Given the description of an element on the screen output the (x, y) to click on. 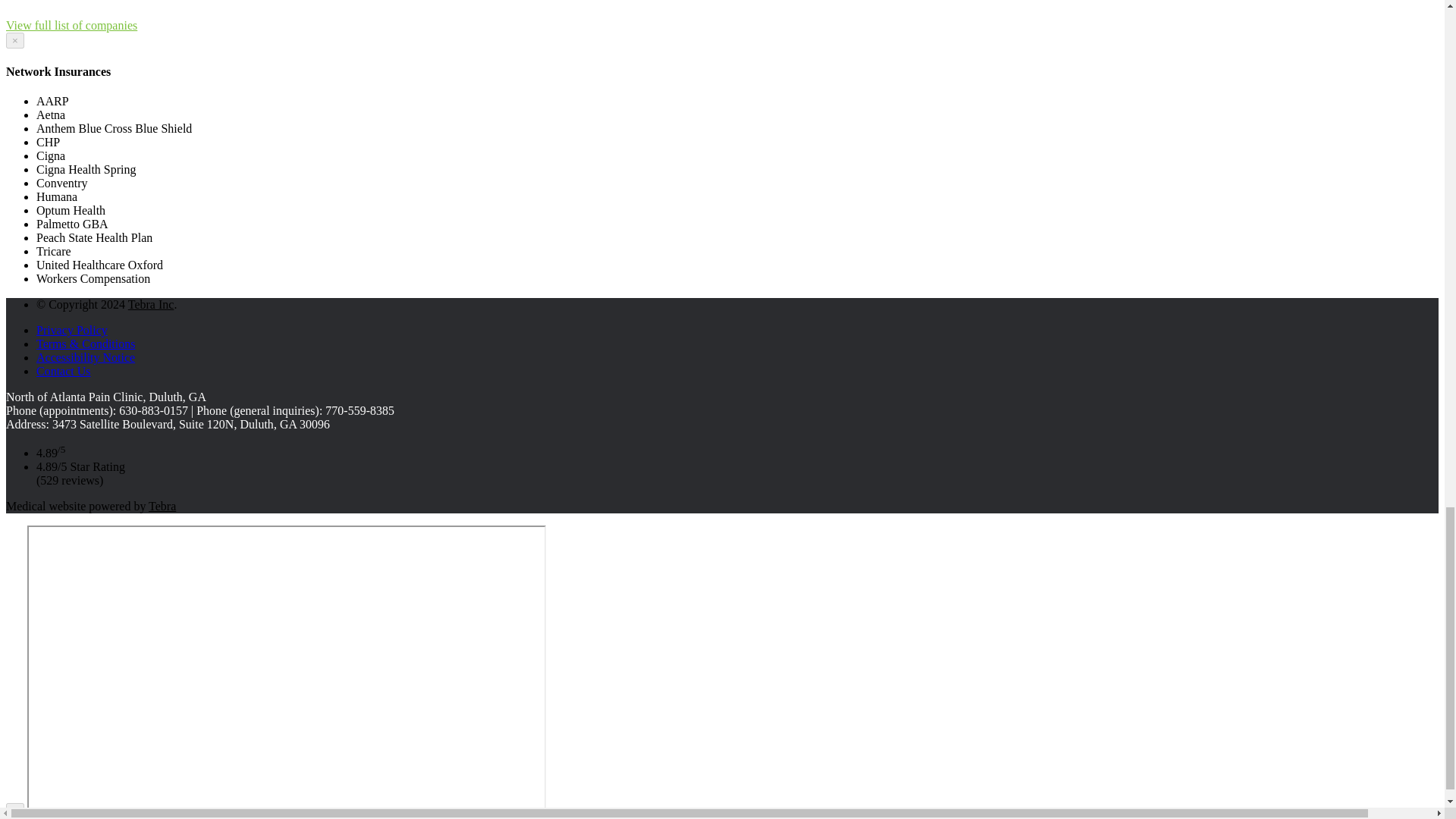
Contact Us (63, 370)
Accessibility Notice (85, 357)
View full list of companies (70, 24)
Privacy Policy (71, 329)
Workers Compensation (76, 2)
Tebra Inc (151, 304)
Tebra (162, 505)
